Given the description of an element on the screen output the (x, y) to click on. 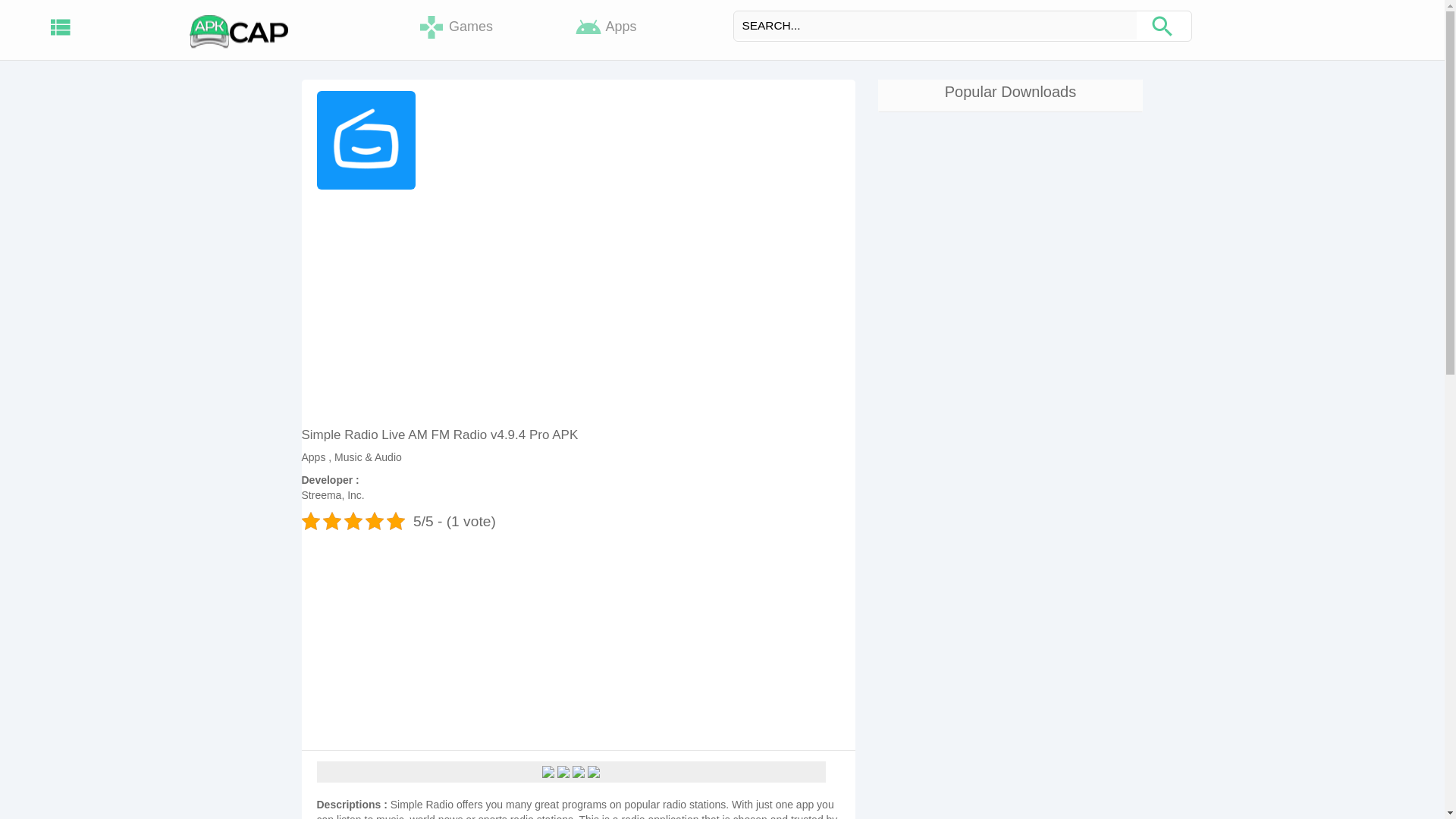
Games (454, 26)
Apps (606, 26)
Advertisement (578, 637)
